Given the description of an element on the screen output the (x, y) to click on. 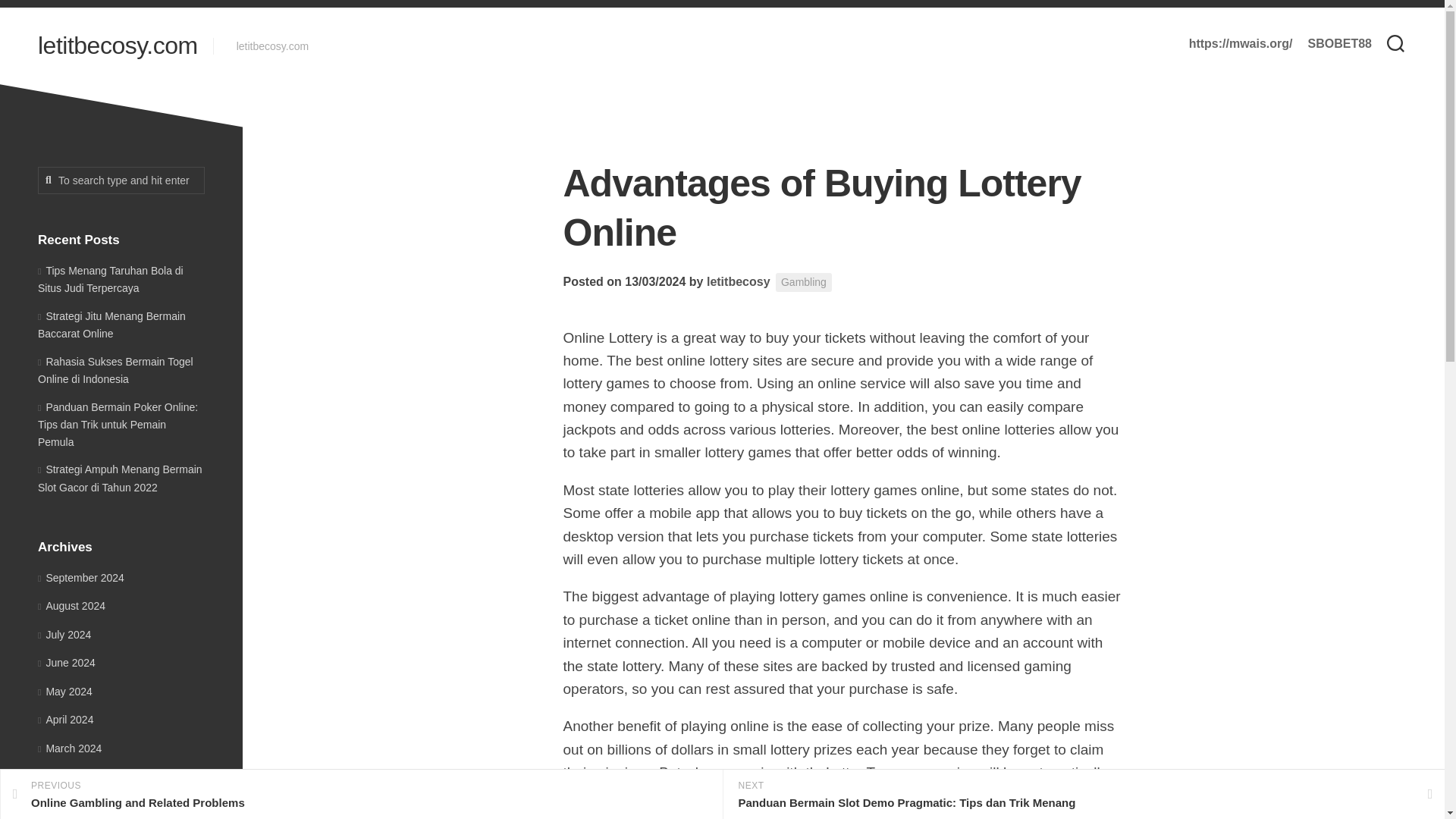
August 2024 (70, 605)
May 2024 (65, 691)
March 2024 (69, 747)
Posts by letitbecosy (738, 281)
Rahasia Sukses Bermain Togel Online di Indonesia (115, 369)
To search type and hit enter (121, 180)
January 2024 (73, 805)
June 2024 (66, 662)
September 2024 (80, 577)
April 2024 (65, 719)
